Given the description of an element on the screen output the (x, y) to click on. 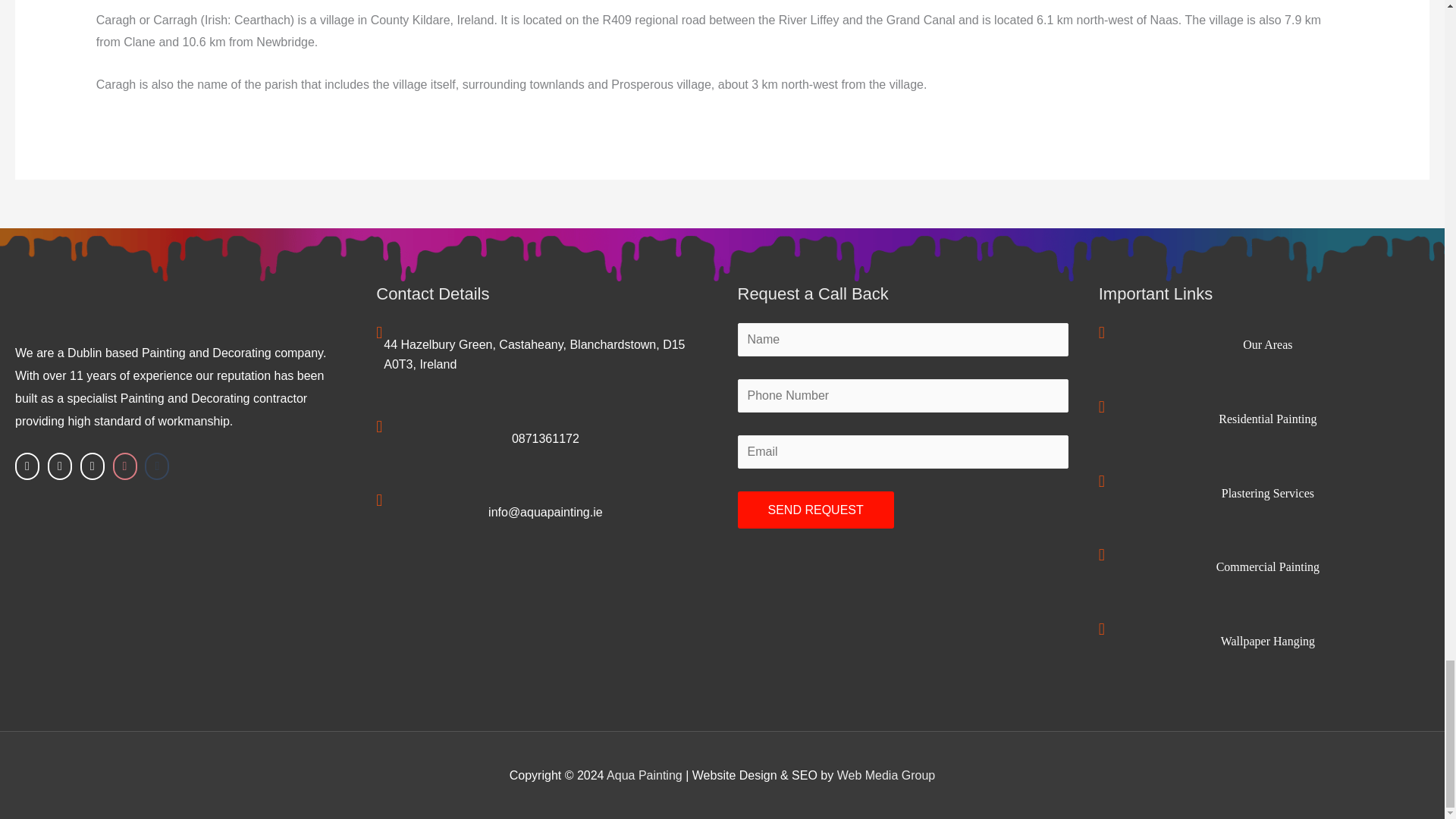
 on Pinterest (124, 465)
 on Tumblr (156, 465)
SEND REQUEST (814, 510)
 on Twitter (59, 465)
0871361172 (545, 438)
